Given the description of an element on the screen output the (x, y) to click on. 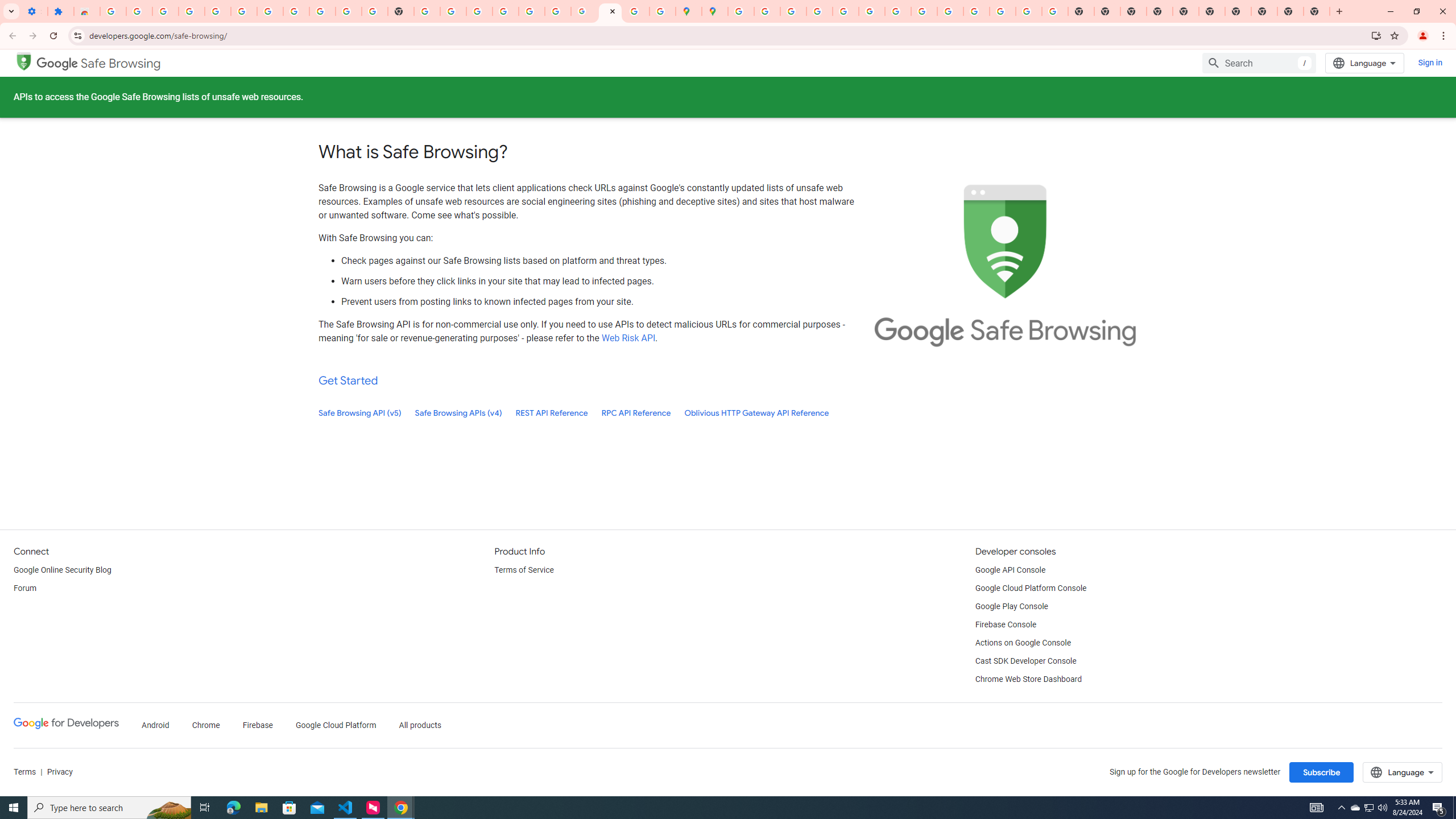
Sign in - Google Accounts (112, 11)
Language (1402, 772)
Google API Console (1010, 570)
